Given the description of an element on the screen output the (x, y) to click on. 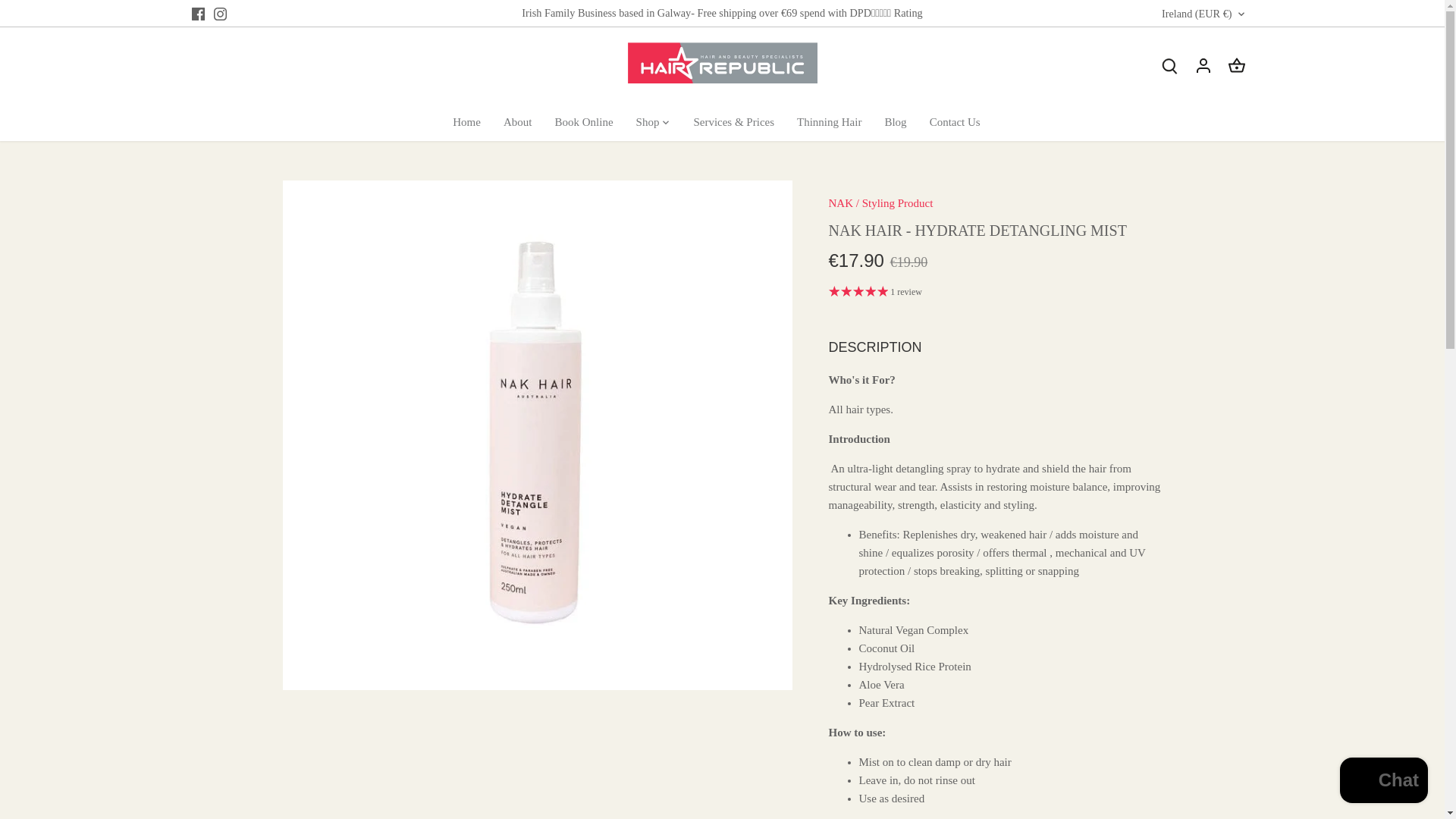
Facebook (196, 13)
Contact Us (954, 121)
Home (472, 121)
About (517, 121)
Thinning Hair (829, 121)
Blog (894, 121)
Shopify online store chat (1383, 781)
Instagram (220, 13)
Book Online (583, 121)
NAK (840, 203)
Shop (647, 121)
Styling Product (897, 203)
